Given the description of an element on the screen output the (x, y) to click on. 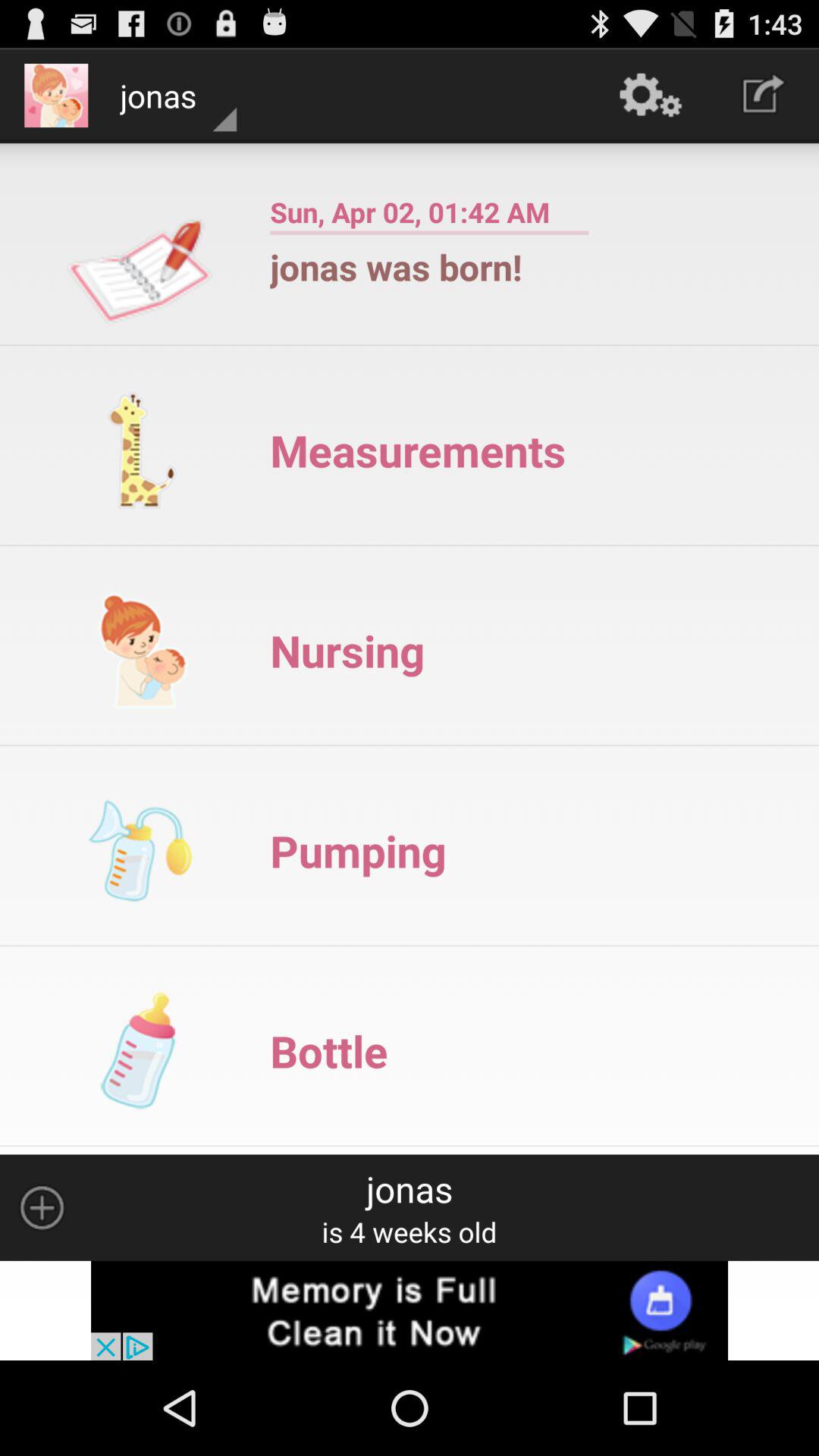
click (41, 1207)
